Given the description of an element on the screen output the (x, y) to click on. 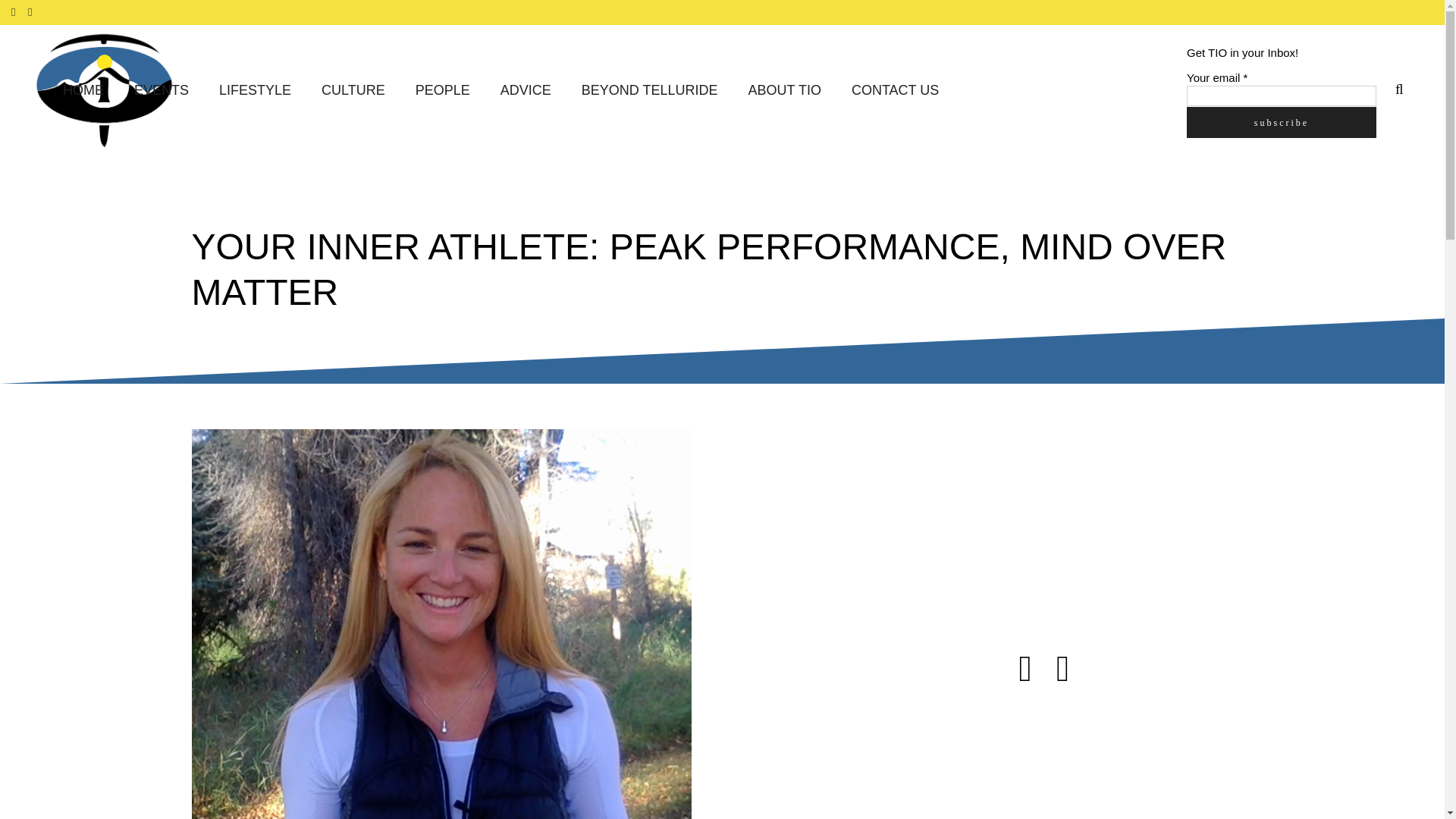
3rd party ad content (1116, 524)
Your email (1280, 95)
BEYOND TELLURIDE (649, 90)
Subscribe (1280, 121)
Subscribe (1280, 121)
3rd party ad content (1116, 760)
CONTACT US (894, 90)
